Given the description of an element on the screen output the (x, y) to click on. 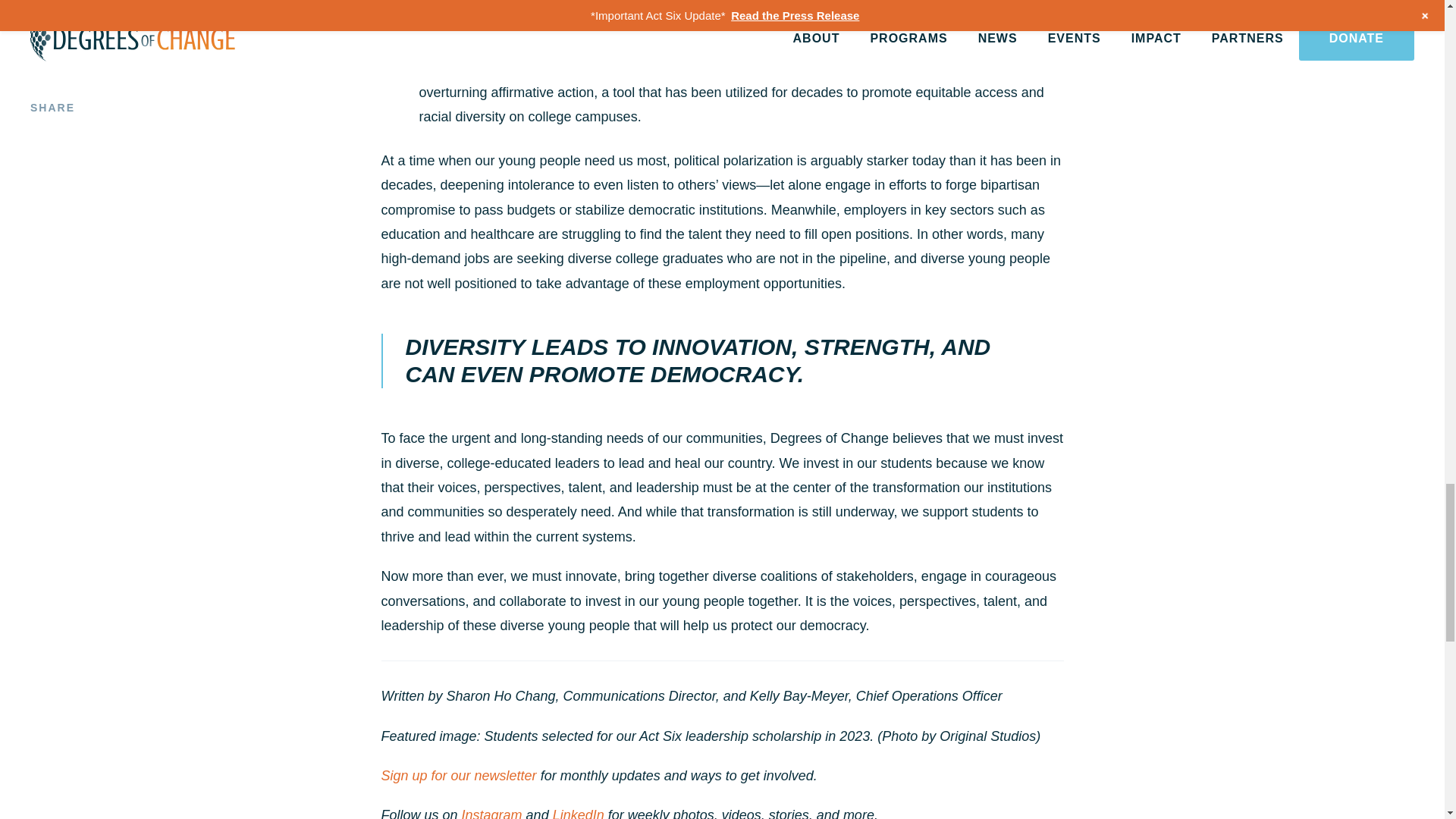
Instagram (491, 813)
LinkedIn (578, 813)
illegal to consider race in college admissions (827, 68)
laws that impose teaching restrictions (696, 5)
Sign up for our newsletter (457, 775)
